Given the description of an element on the screen output the (x, y) to click on. 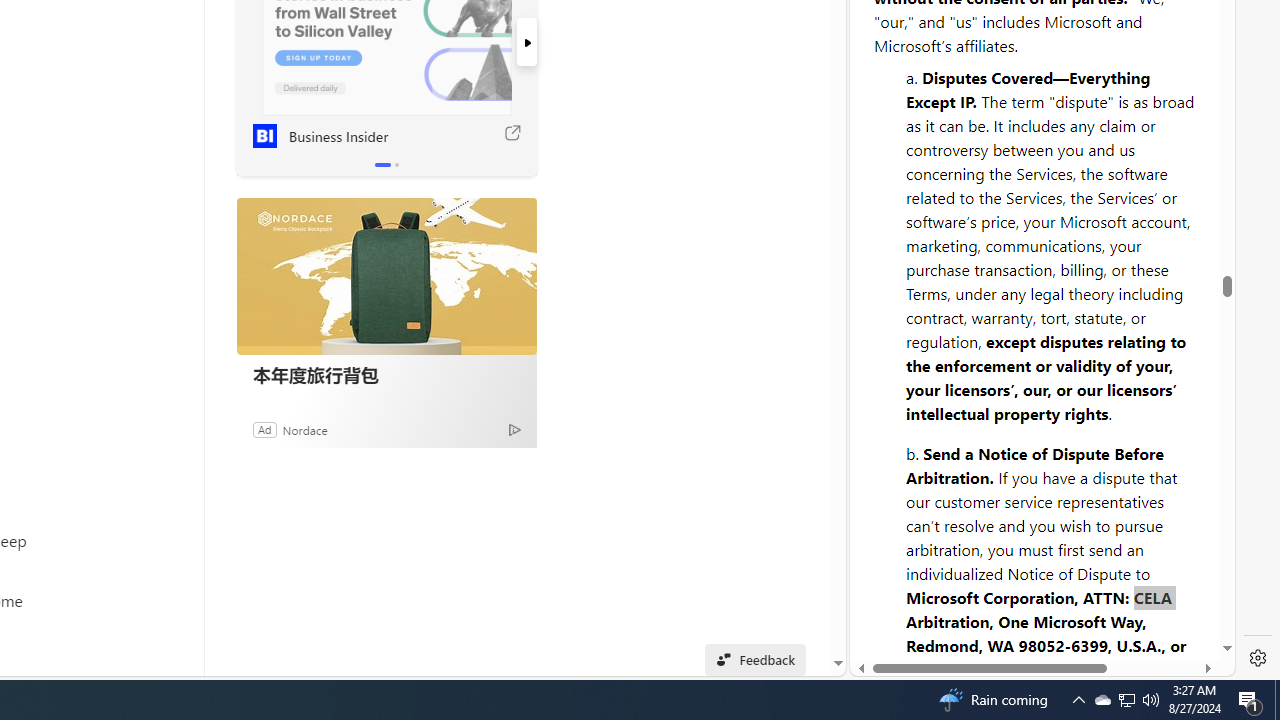
Open in New Tab (1042, 631)
